Given the description of an element on the screen output the (x, y) to click on. 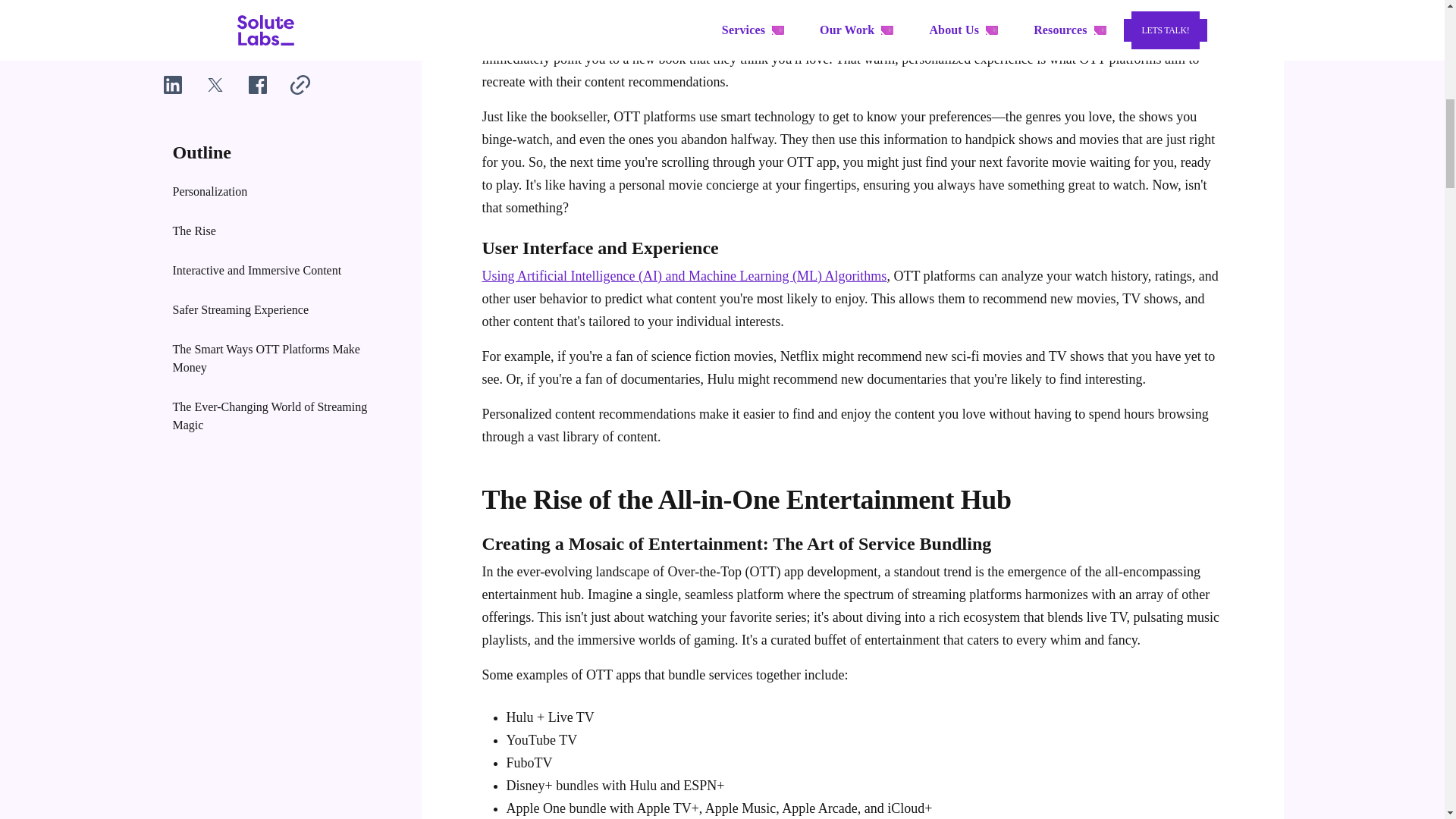
FuboTV (529, 762)
The Ever-Changing World of Streaming Magic (275, 70)
Apple (523, 807)
The Smart Ways OTT Platforms Make Money (275, 18)
YouTube TV (542, 739)
